Given the description of an element on the screen output the (x, y) to click on. 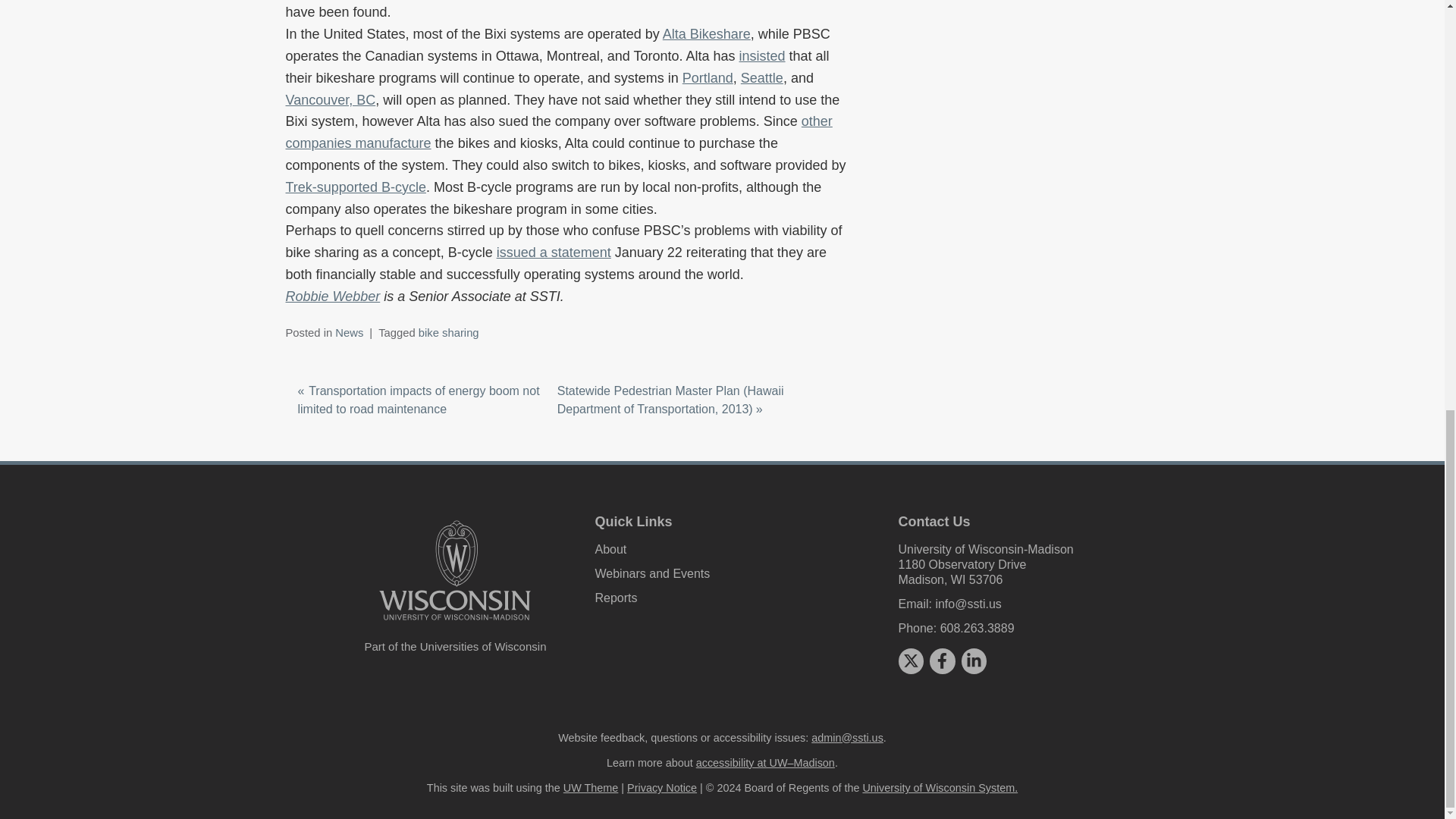
facebook (941, 660)
Alta Bikeshare (706, 33)
University logo that links to main university website (454, 570)
linkedin (973, 660)
x twitter (910, 660)
